Given the description of an element on the screen output the (x, y) to click on. 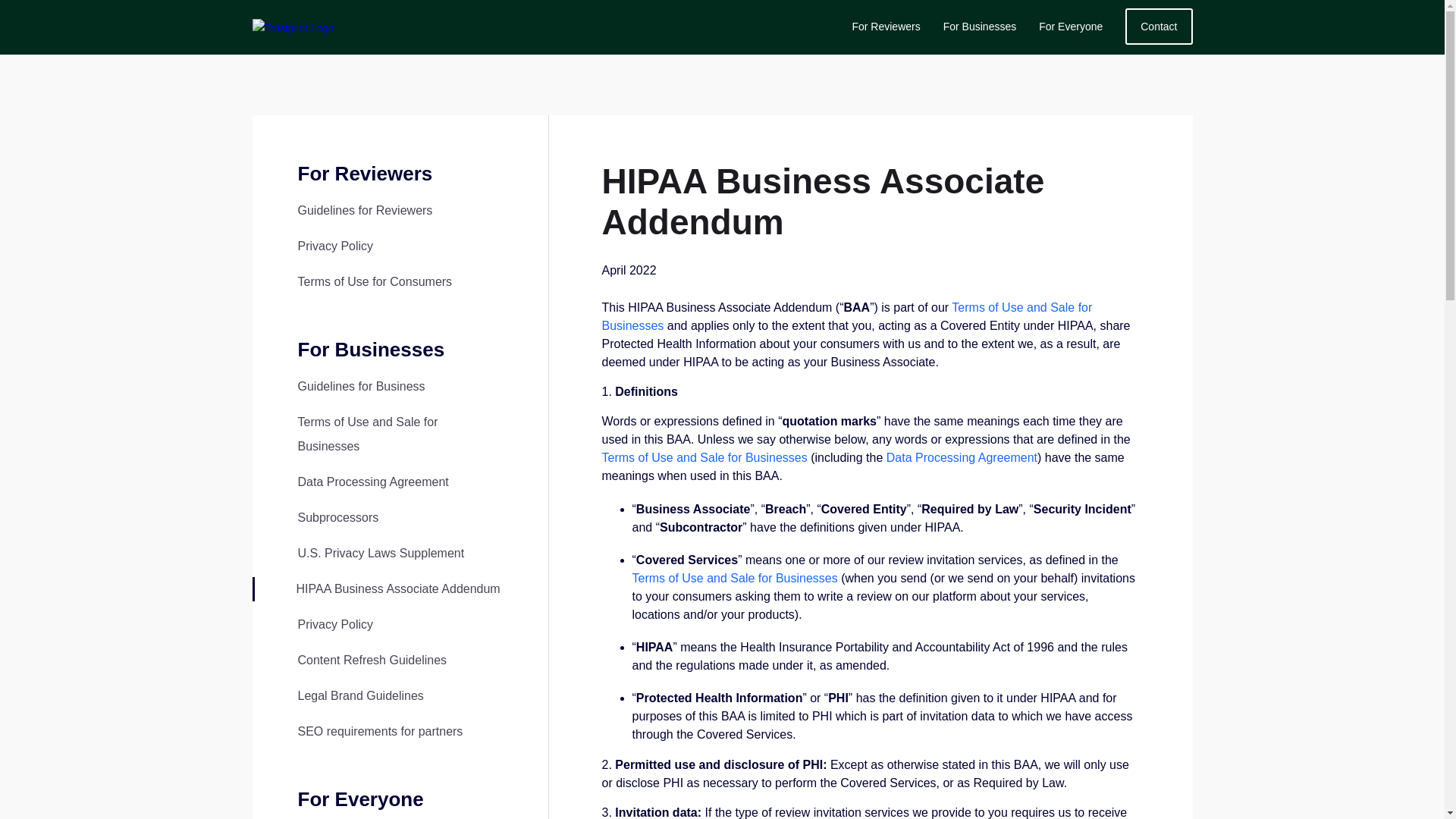
Guidelines for Business (361, 386)
For Reviewers (885, 27)
Data Processing Agreement (372, 481)
U.S. Privacy Laws Supplement (380, 553)
Terms of Use for Consumers (374, 281)
Terms of Use and Sale for Businesses (367, 433)
For Everyone (1070, 27)
Privacy Policy (334, 624)
Subprocessors (337, 517)
Guidelines for Reviewers (364, 210)
